Given the description of an element on the screen output the (x, y) to click on. 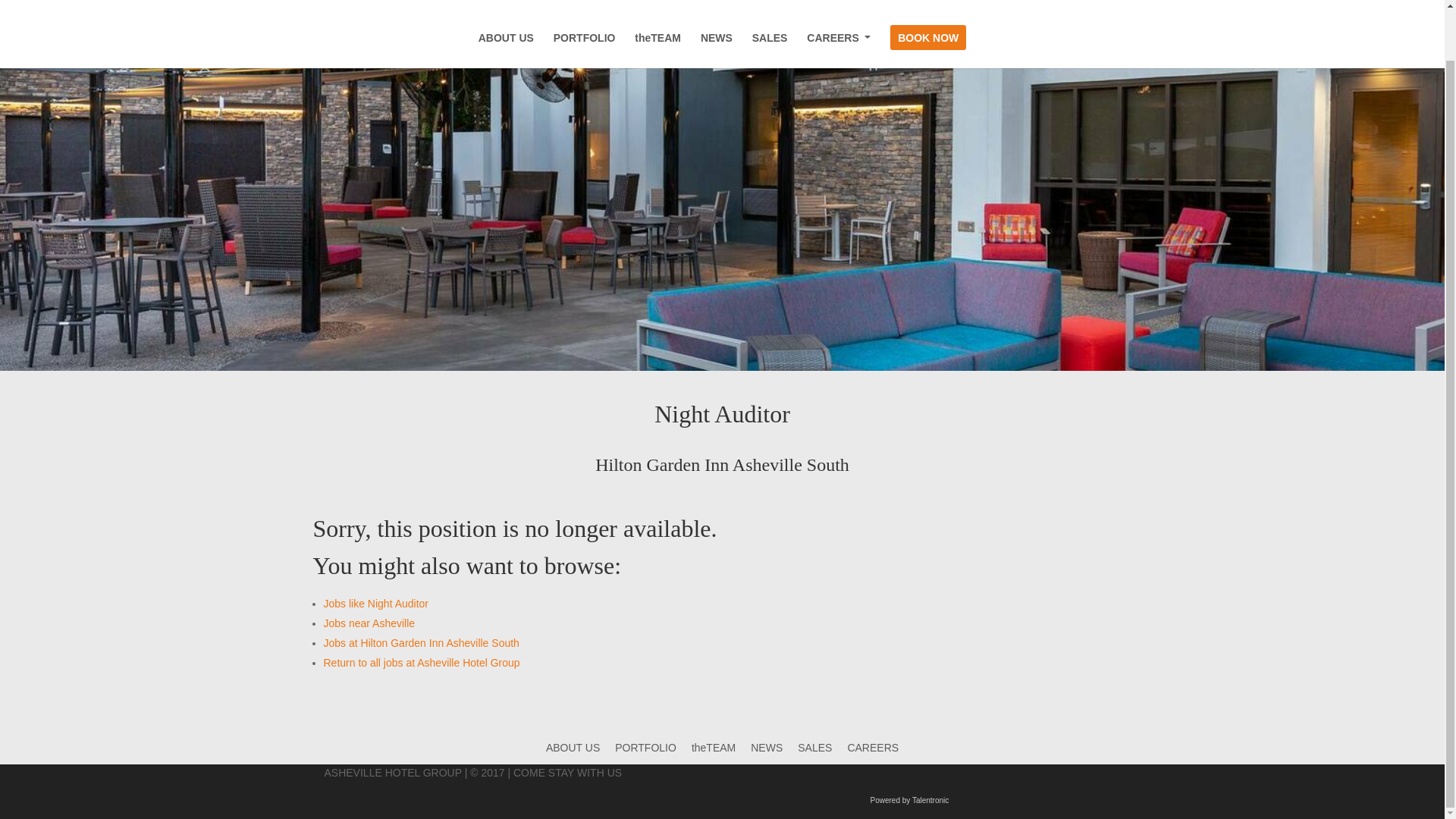
ABOUT US (572, 747)
Jobs near Asheville (368, 623)
SALES (769, 7)
NEWS (716, 7)
Jobs like Night Auditor (375, 603)
theTEAM (713, 747)
NEWS (767, 747)
BOOK NOW (928, 7)
PORTFOLIO (584, 7)
Return to all jobs at Asheville Hotel Group (421, 662)
